Given the description of an element on the screen output the (x, y) to click on. 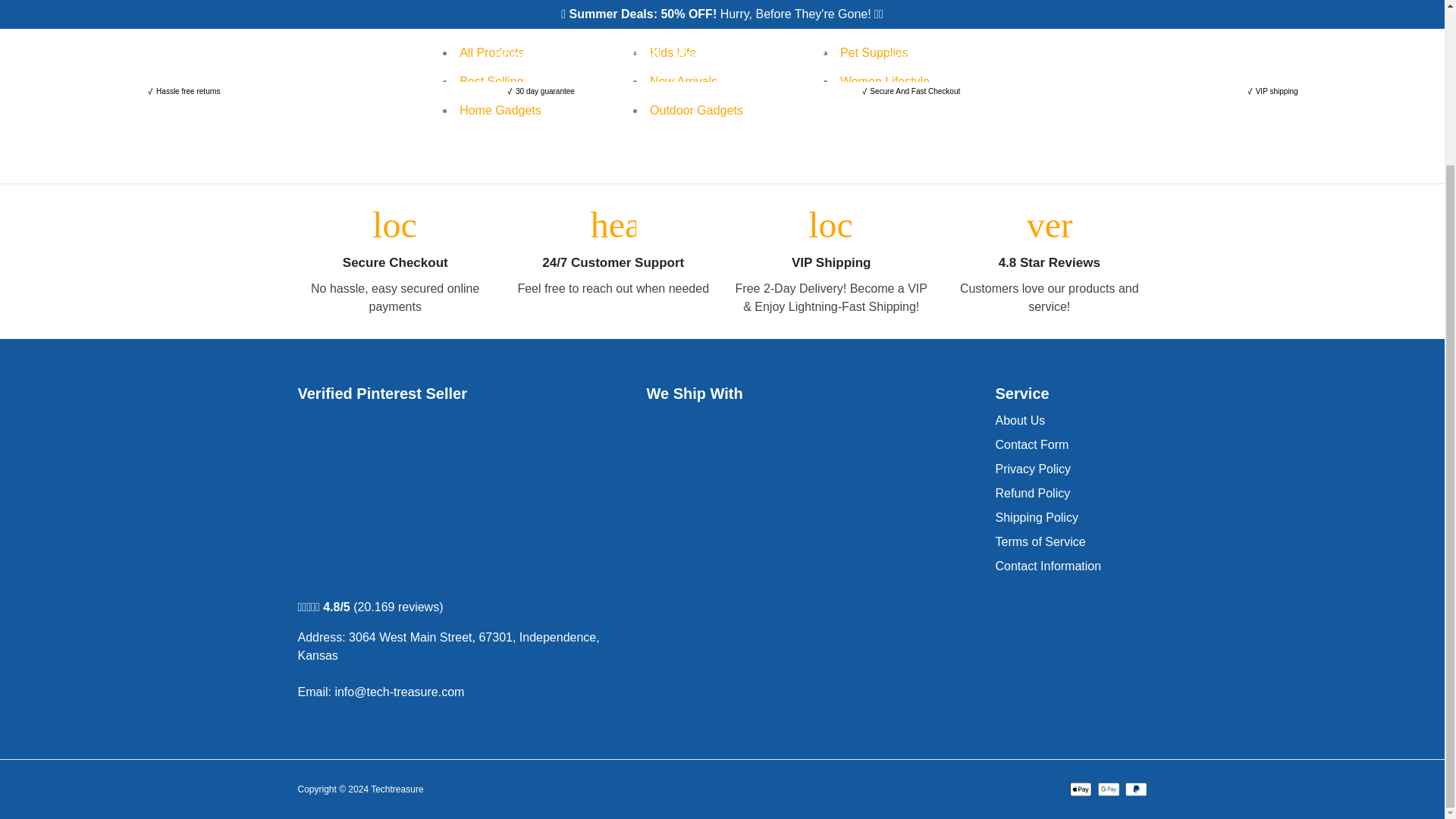
Outdoor Gadgets (695, 110)
Best Selling (492, 81)
Kids Life (672, 51)
Women Lifestyle (885, 81)
Home Gadgets (500, 110)
Apple Pay (1081, 789)
PayPal (1136, 789)
Google Pay (1108, 789)
New Arrivals (683, 81)
Pet Supplies (874, 51)
About Us (1019, 420)
All Products (492, 51)
